Given the description of an element on the screen output the (x, y) to click on. 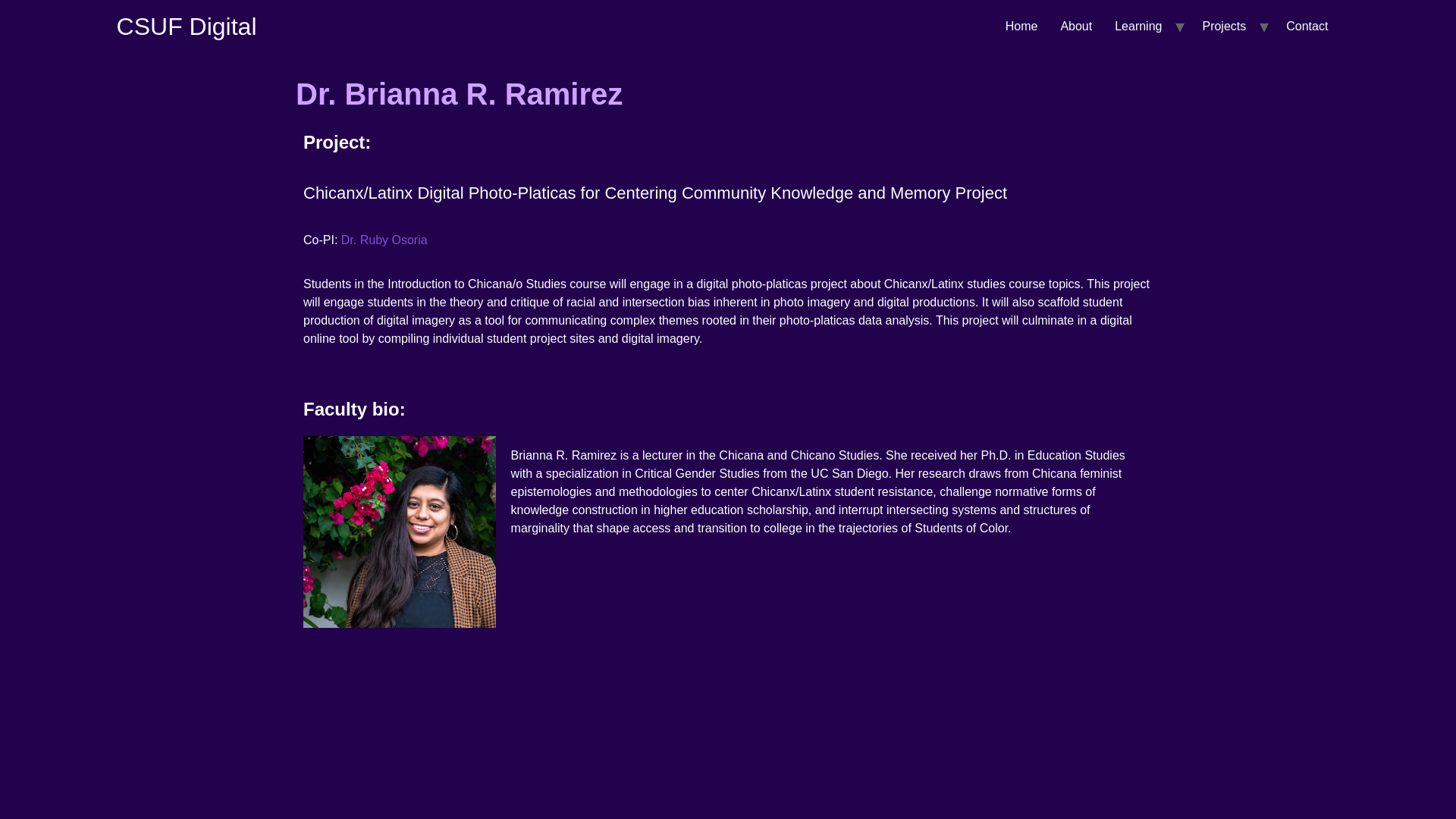
Home (186, 26)
Learning (1138, 26)
About (1075, 26)
CSUF Digital (186, 26)
Projects (1224, 26)
Home (1021, 26)
Contact (1307, 26)
